Given the description of an element on the screen output the (x, y) to click on. 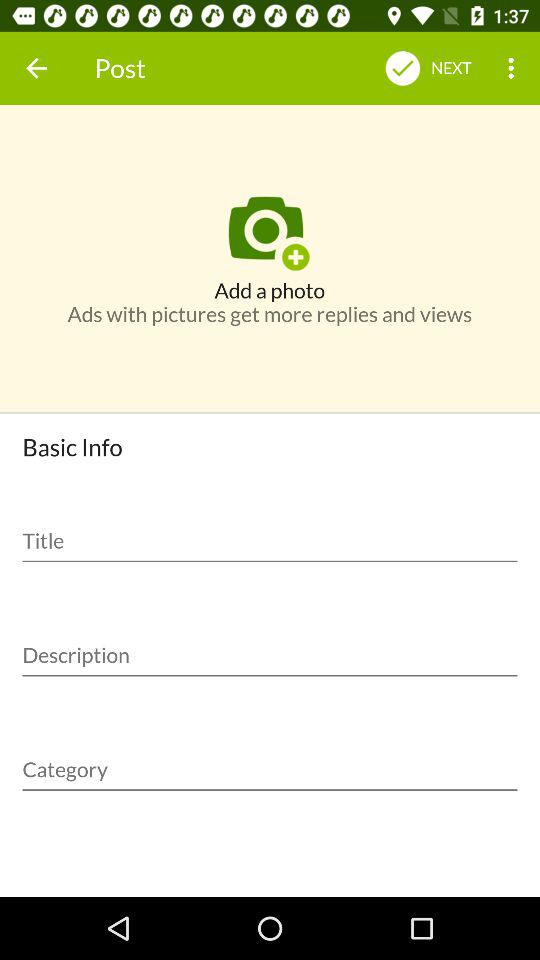
press item next to the next item (513, 67)
